Given the description of an element on the screen output the (x, y) to click on. 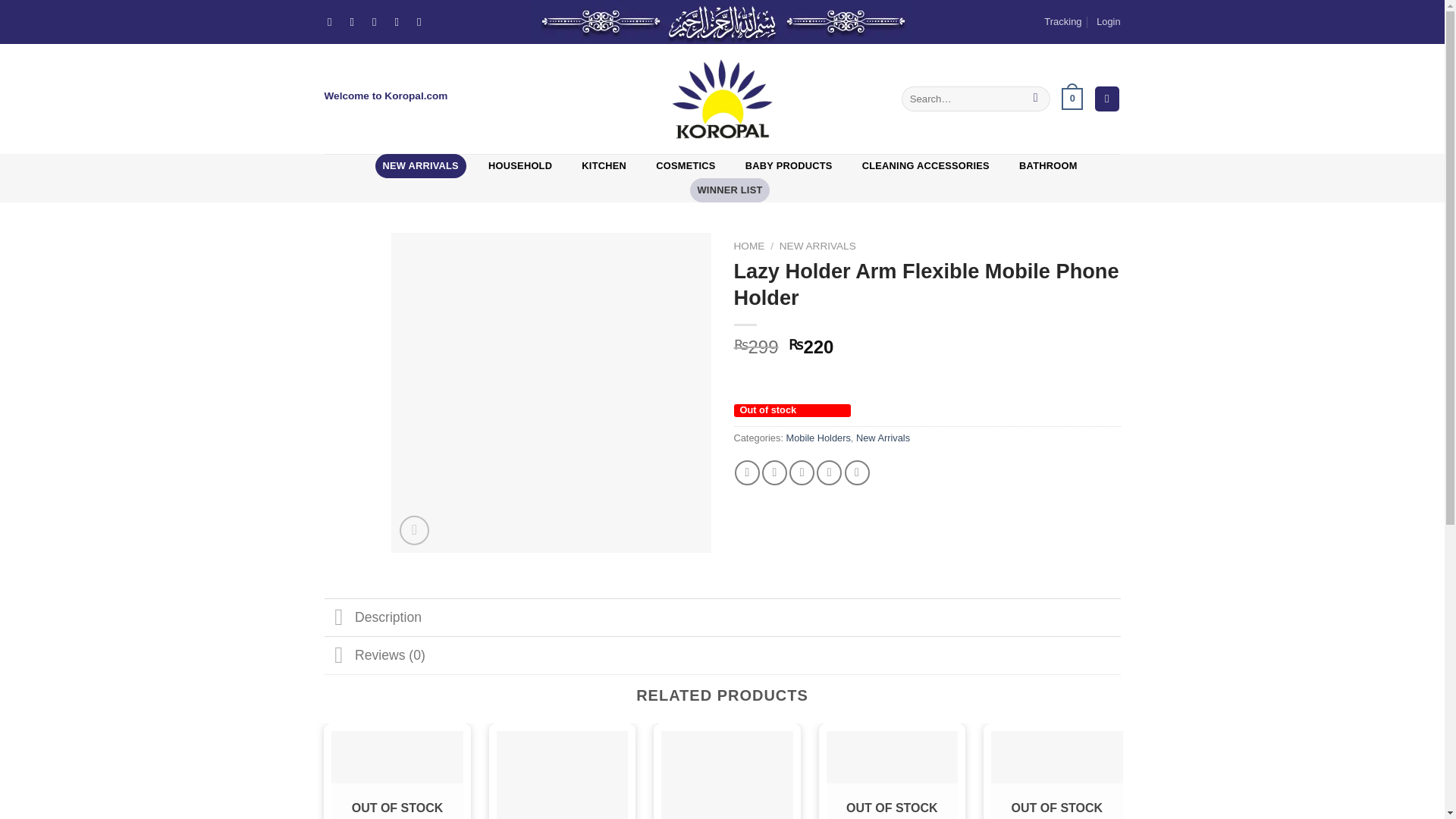
WINNER LIST (730, 190)
HOME (749, 245)
Welcome to Koropal.com (386, 95)
Login (1107, 21)
Search (1035, 99)
NEW ARRIVALS (817, 245)
koropal - Home Appliances Kitchen and Household (721, 98)
NEW ARRIVALS (420, 165)
Zoom (413, 530)
Tracking (1062, 21)
